Given the description of an element on the screen output the (x, y) to click on. 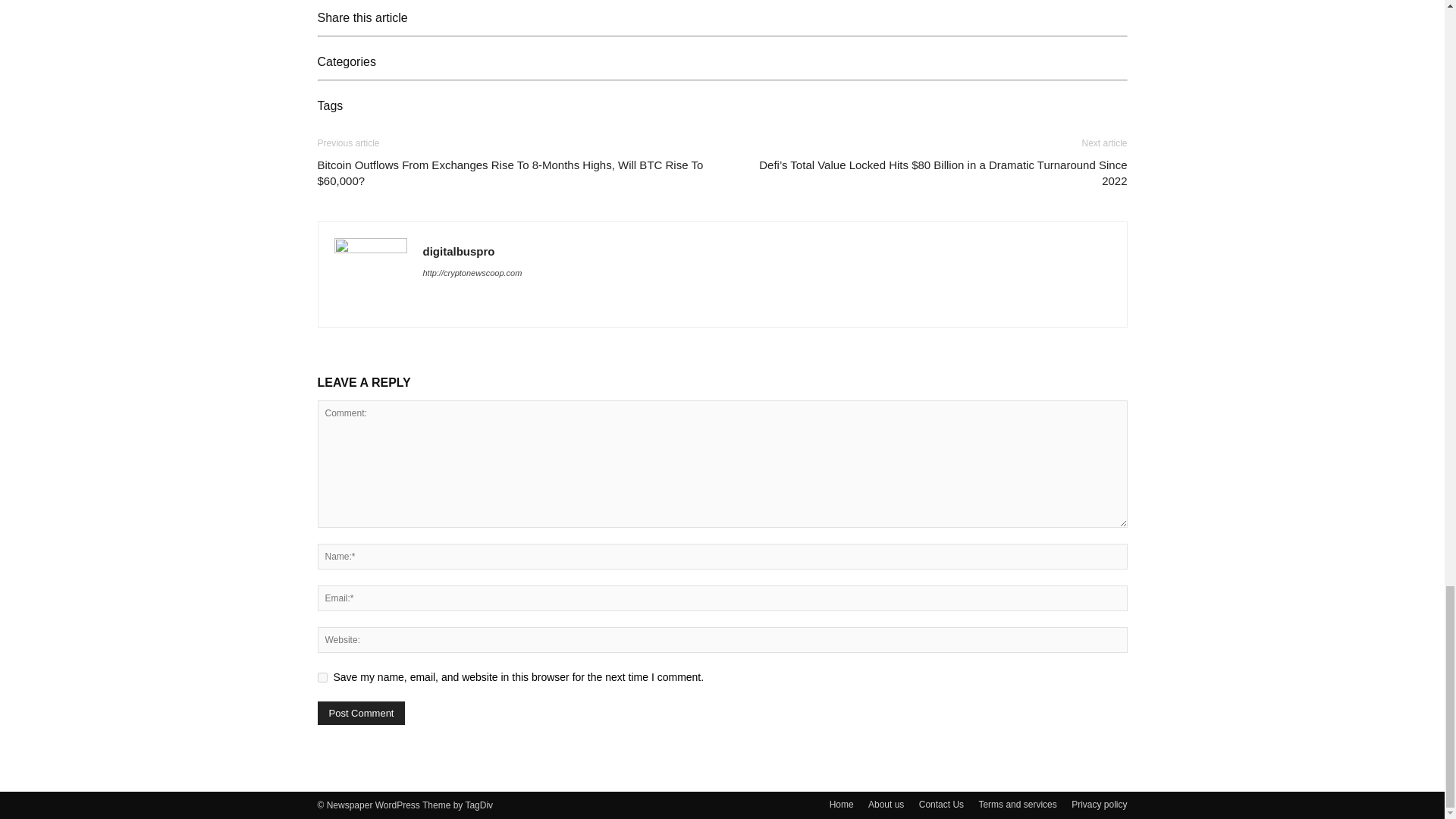
yes (321, 677)
Post Comment (360, 712)
digitalbuspro (459, 250)
